Given the description of an element on the screen output the (x, y) to click on. 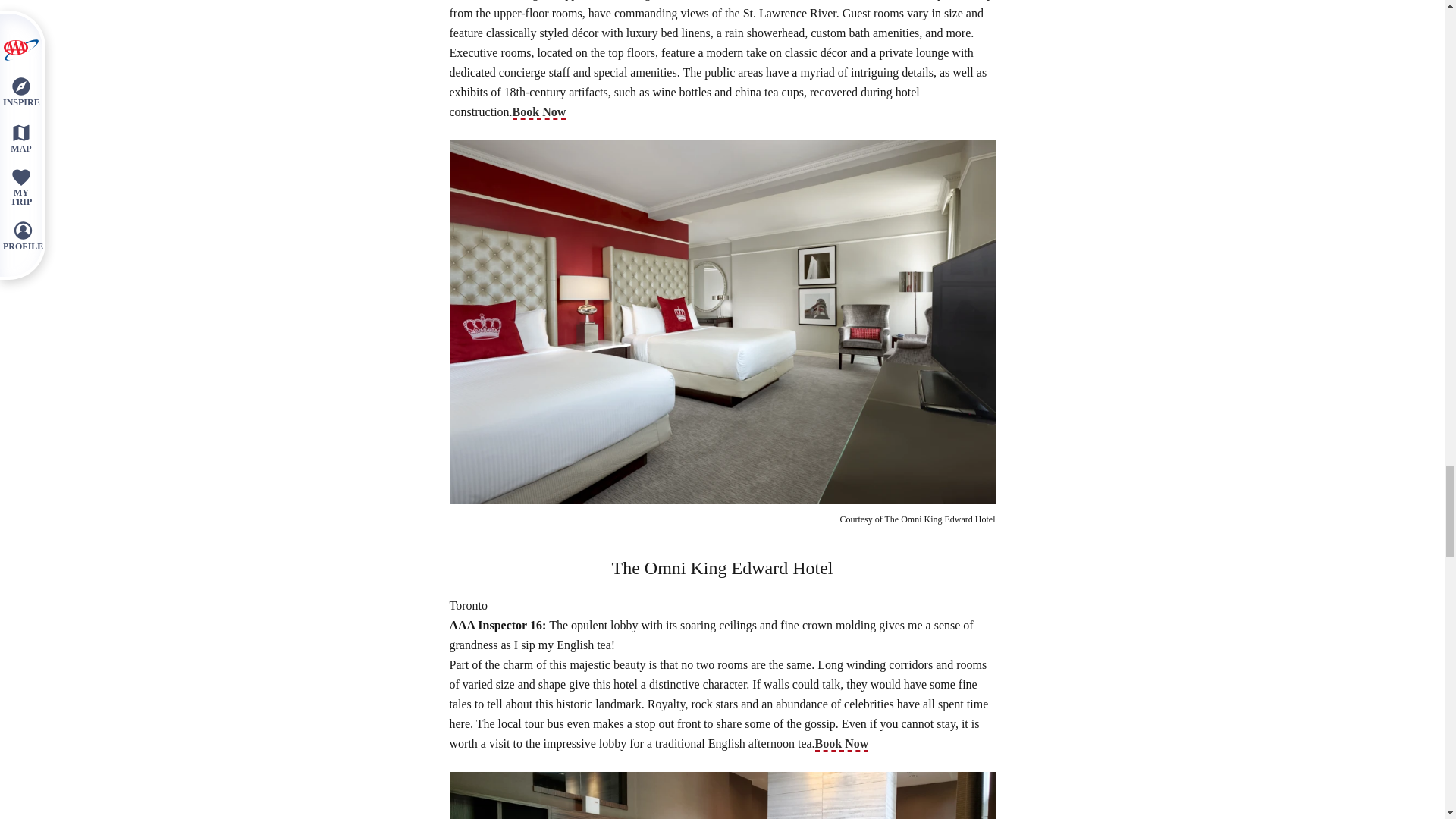
Book Now (842, 744)
Book Now (539, 112)
